Given the description of an element on the screen output the (x, y) to click on. 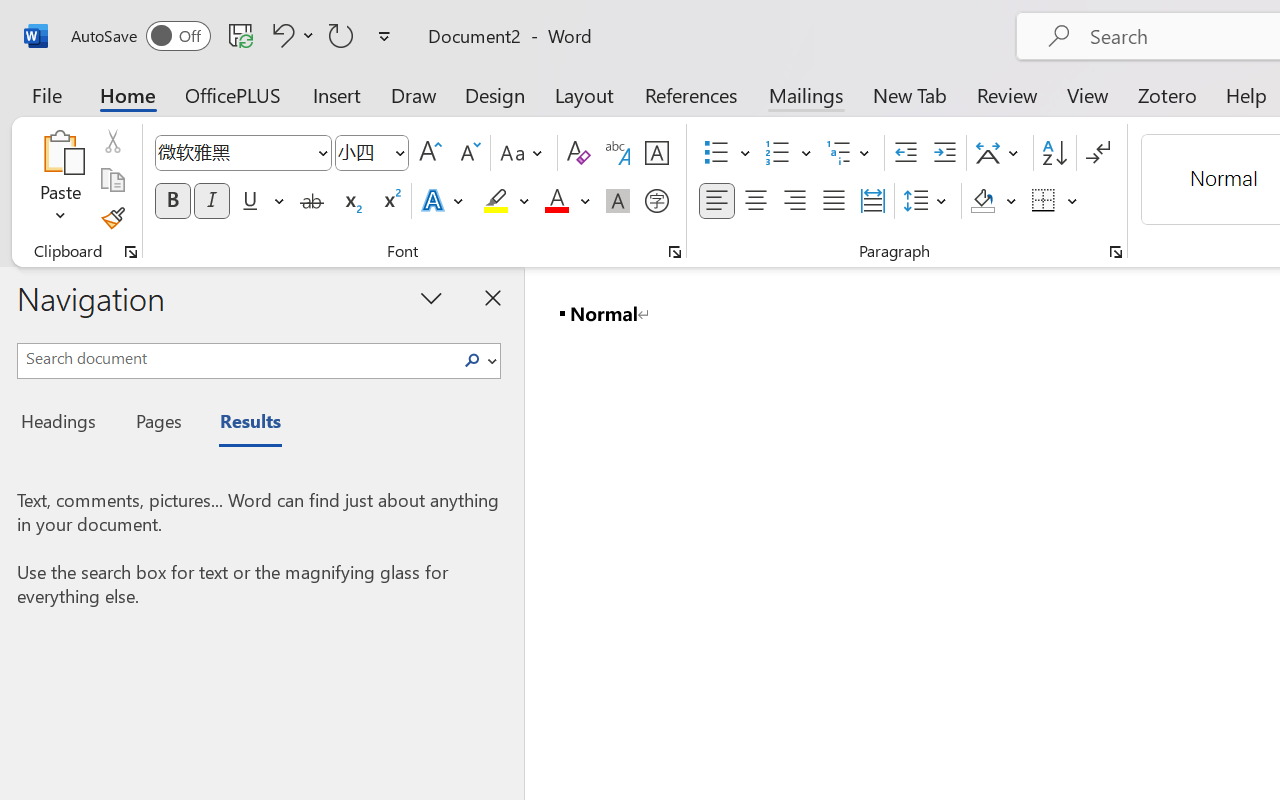
Save (241, 35)
View (1087, 94)
Phonetic Guide... (618, 153)
Undo Style (280, 35)
Insert (337, 94)
Justify (834, 201)
Format Painter (112, 218)
Paste (60, 179)
Font Size (362, 152)
Align Left (716, 201)
Font (234, 152)
Grow Font (430, 153)
Bullets (716, 153)
References (690, 94)
Character Shading (618, 201)
